Given the description of an element on the screen output the (x, y) to click on. 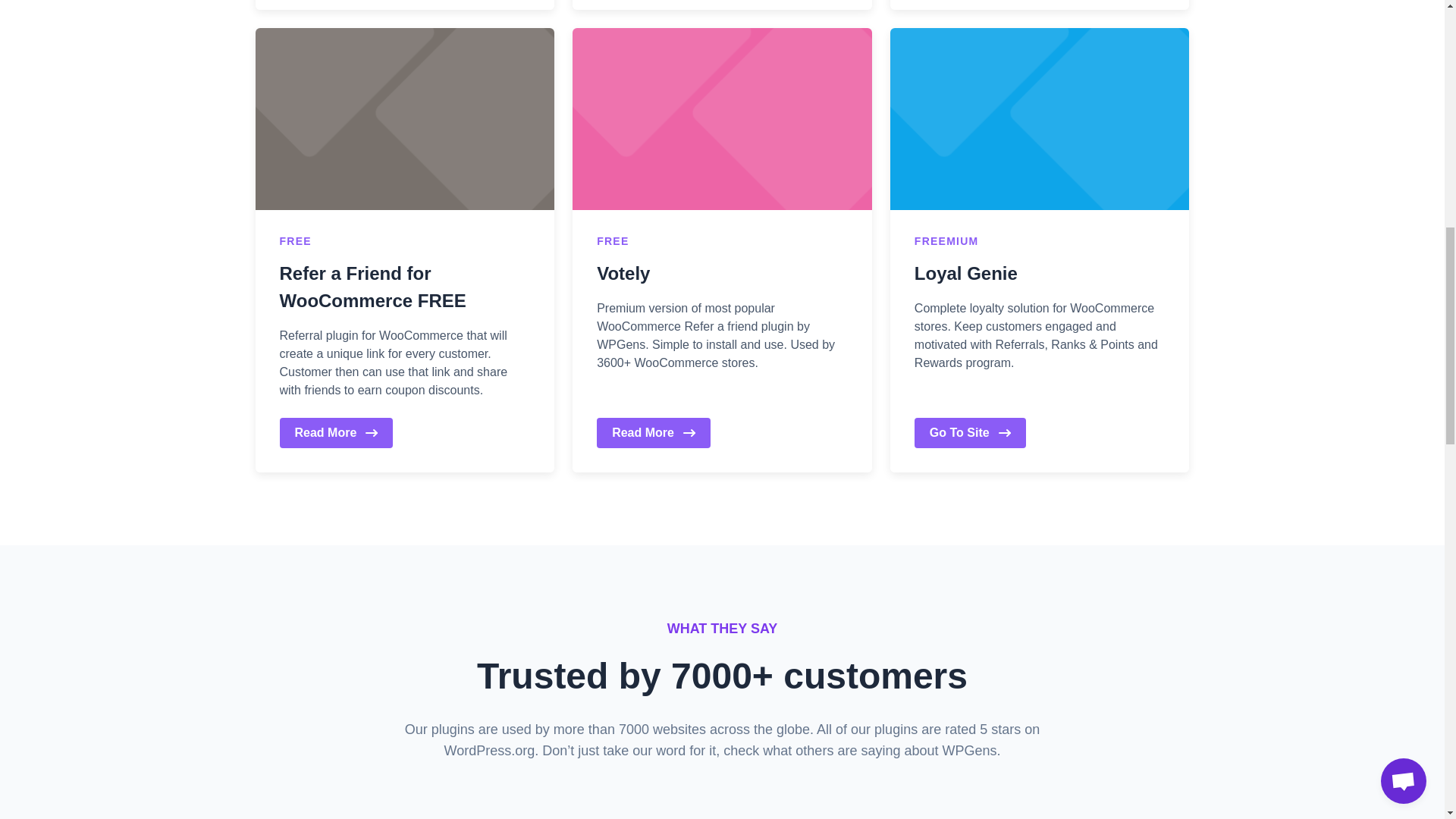
Read More (336, 432)
Go To Site (970, 432)
Read More (653, 432)
